Given the description of an element on the screen output the (x, y) to click on. 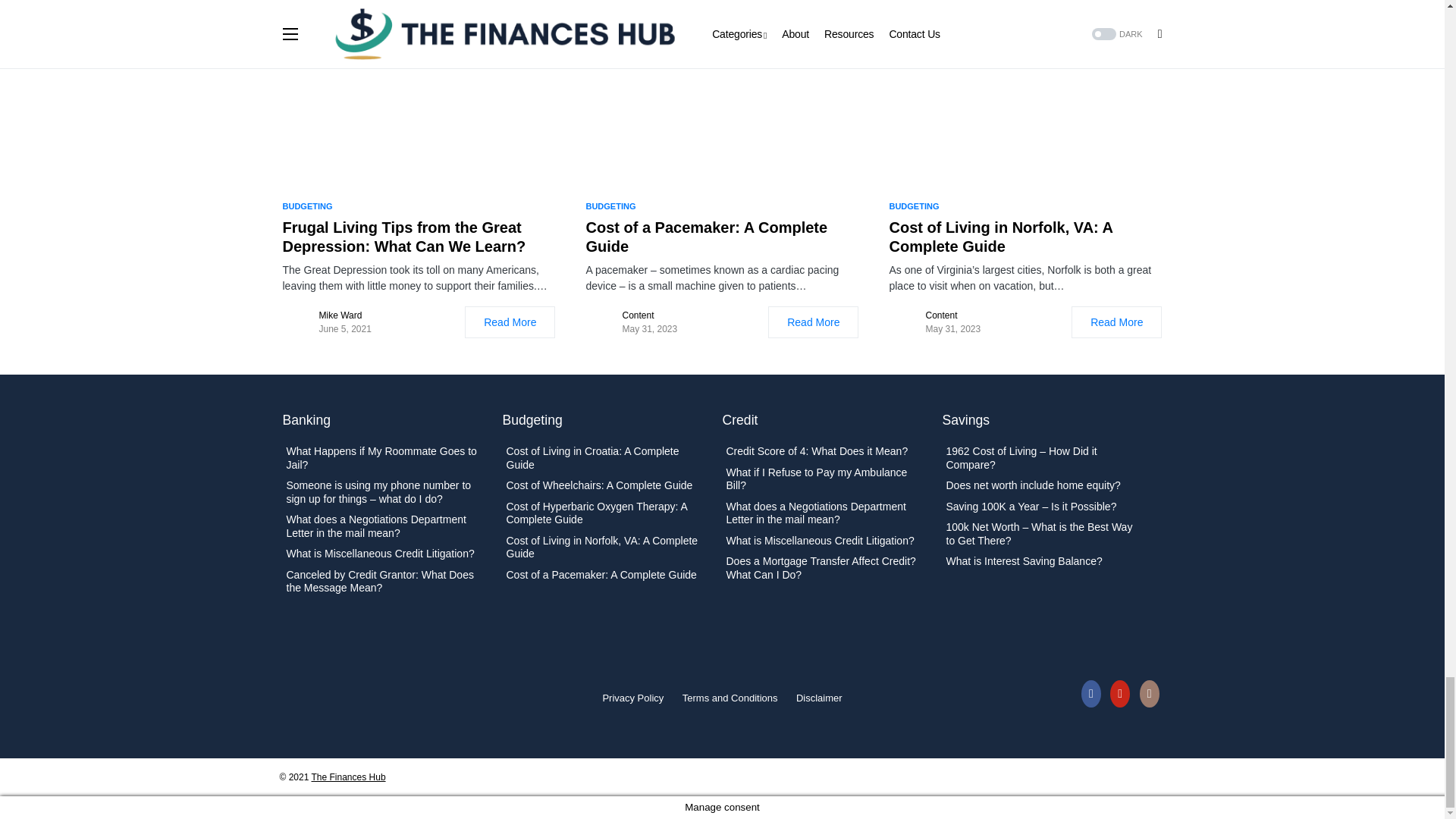
Gravatar for Content (903, 322)
Gravatar for Mike Ward (297, 322)
Gravatar for Content (600, 322)
